Given the description of an element on the screen output the (x, y) to click on. 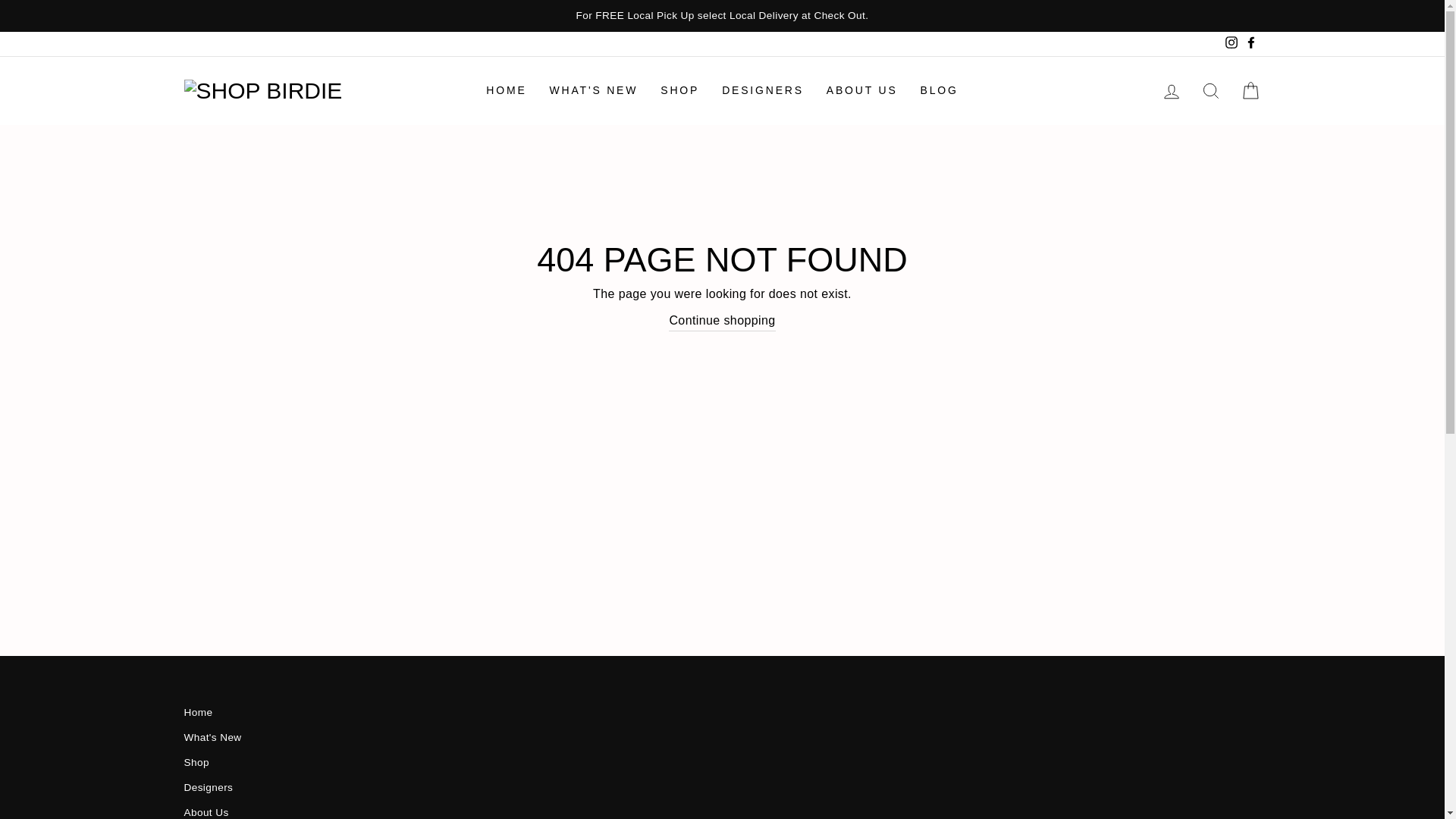
SHOP (679, 90)
HOME (505, 90)
WHAT'S NEW (593, 90)
